Given the description of an element on the screen output the (x, y) to click on. 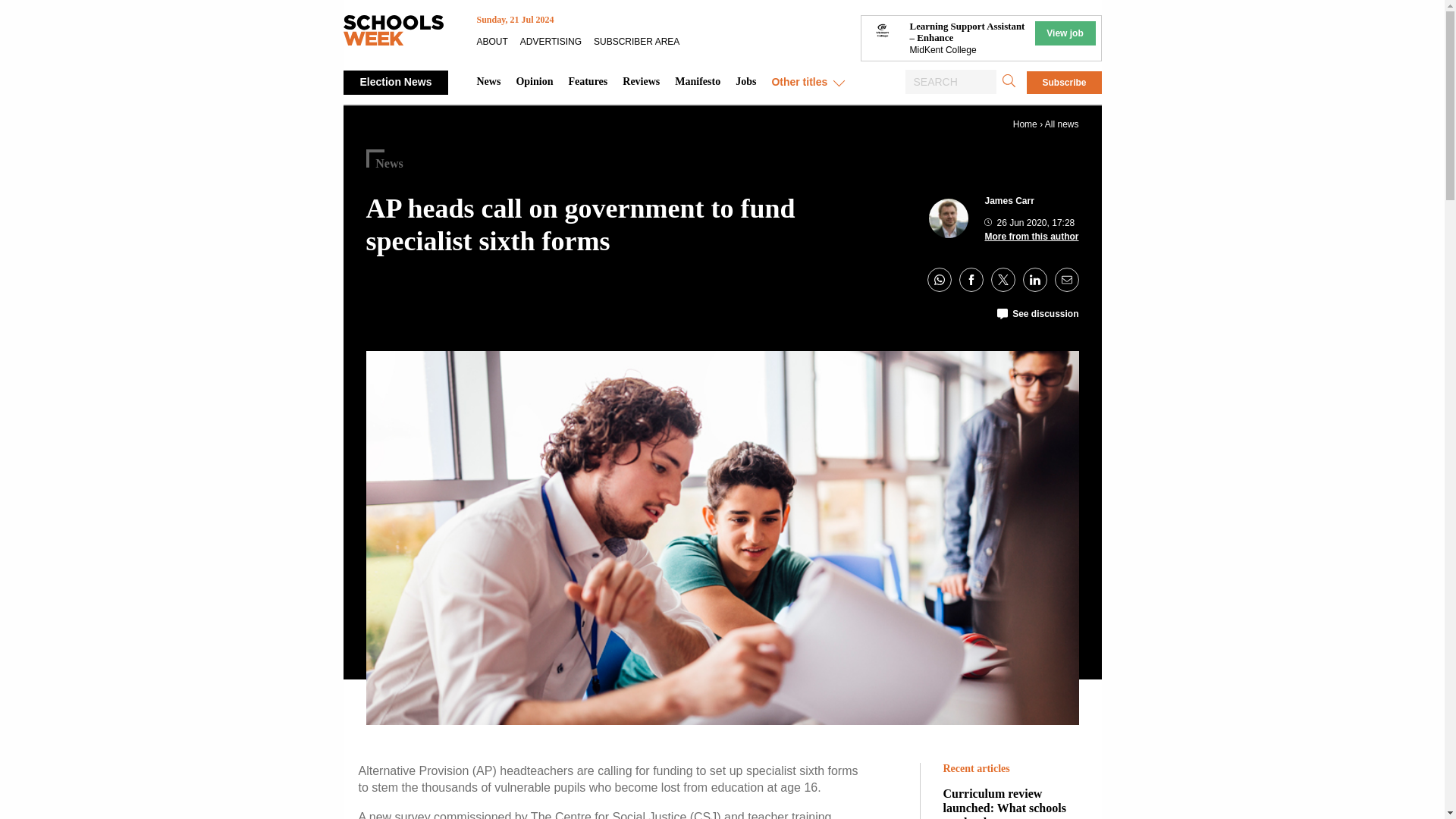
Home (1024, 123)
All news (1061, 123)
Posts by James Carr (1008, 200)
